Given the description of an element on the screen output the (x, y) to click on. 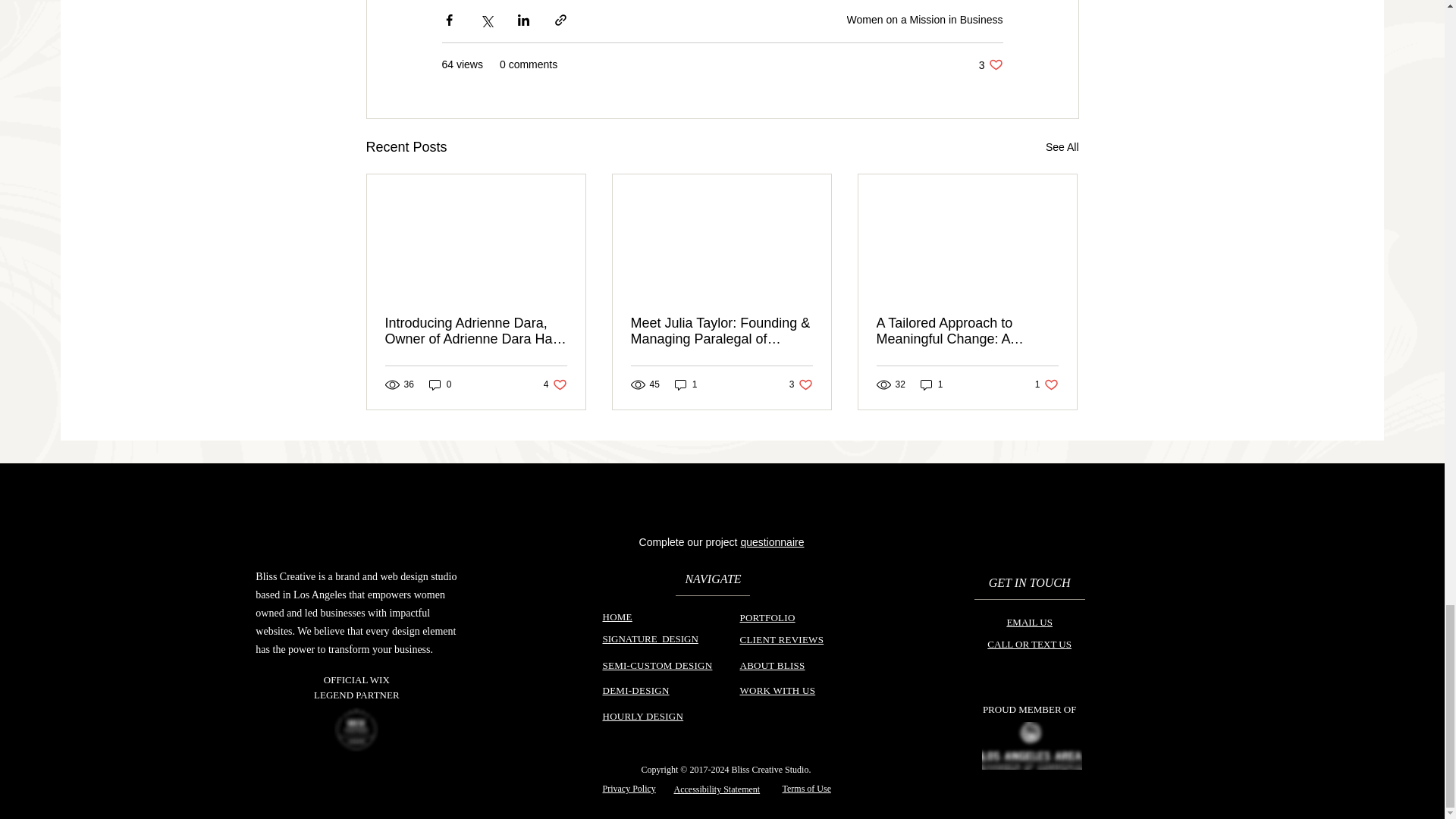
Women on a Mission in Business (990, 64)
0 (925, 19)
See All (555, 384)
